Given the description of an element on the screen output the (x, y) to click on. 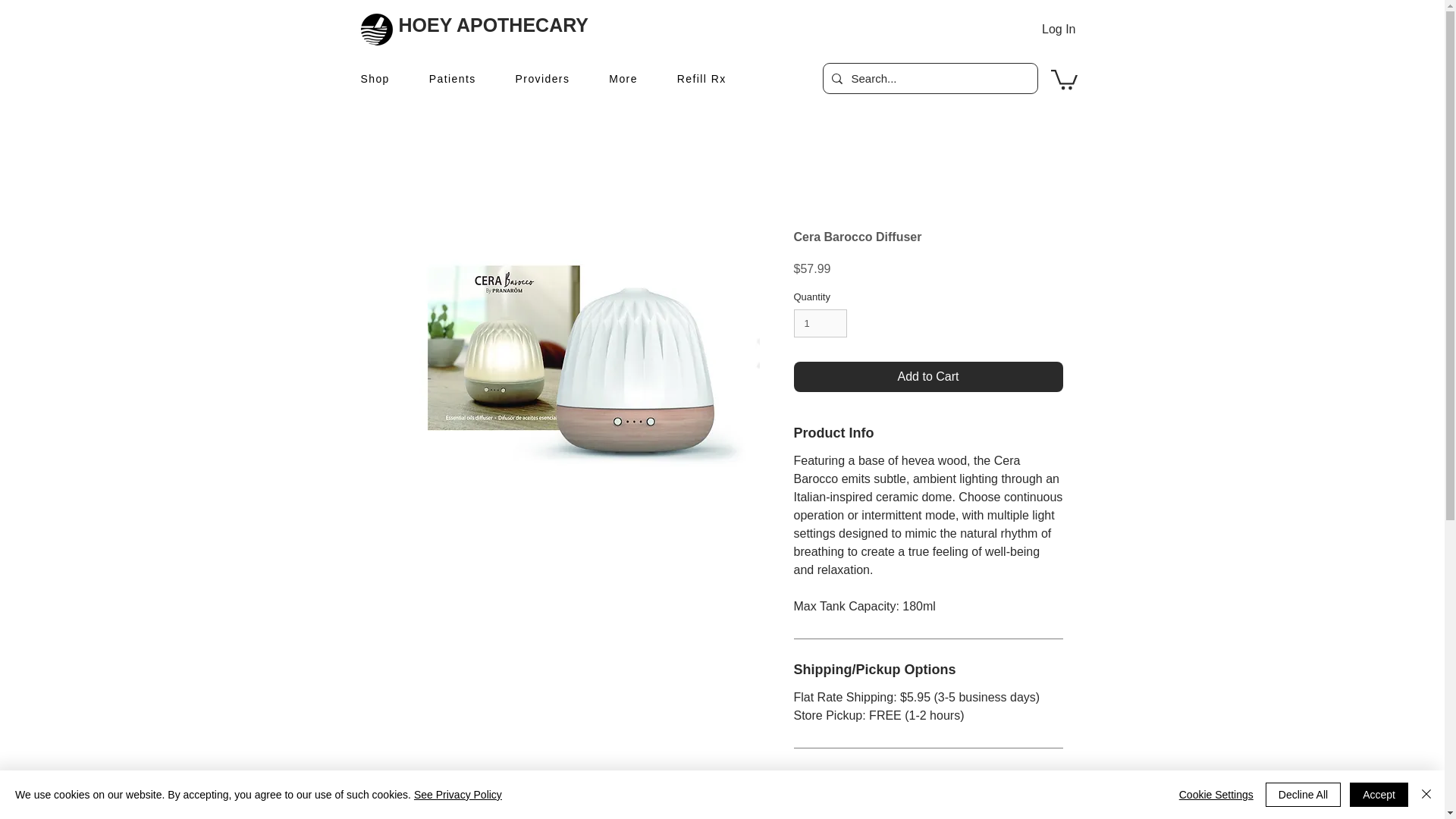
HOEY APOTHECARY (493, 25)
Refill Rx (702, 80)
1 (820, 323)
Add to Cart (927, 376)
Shop (374, 80)
Log In (1058, 29)
